Given the description of an element on the screen output the (x, y) to click on. 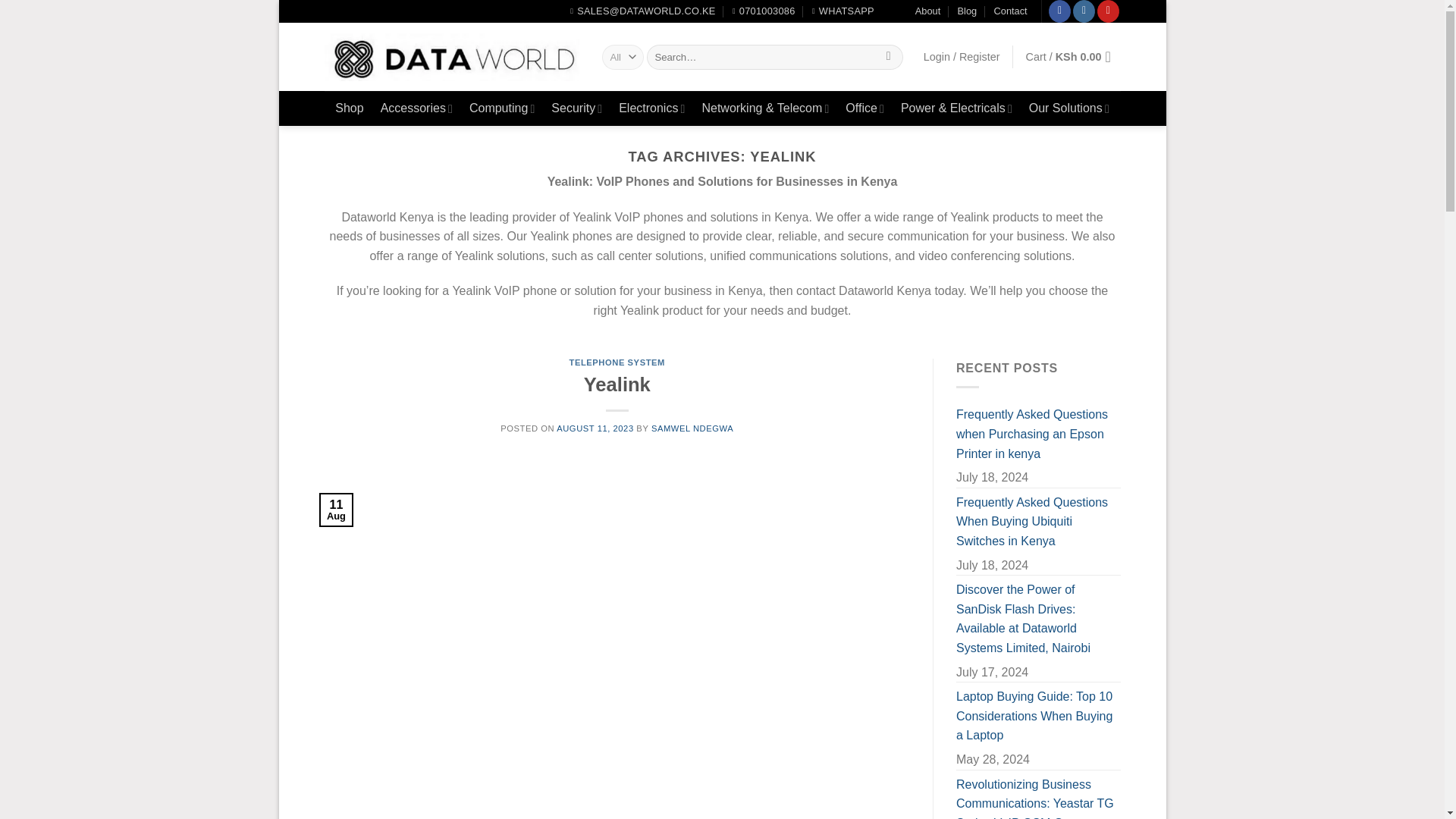
254701003086 (843, 11)
Accessories (416, 108)
0701003086 (763, 11)
0701003086 (763, 11)
Dataworld Kenya - Your Gateway to Advanced Tech (451, 57)
WHATSAPP (843, 11)
Computing (501, 108)
